Given the description of an element on the screen output the (x, y) to click on. 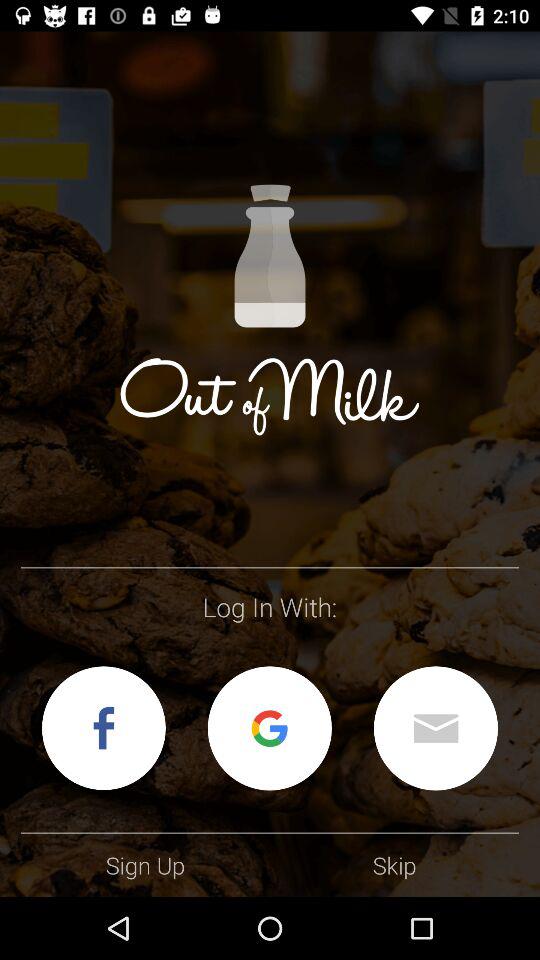
log in with email address (435, 728)
